Given the description of an element on the screen output the (x, y) to click on. 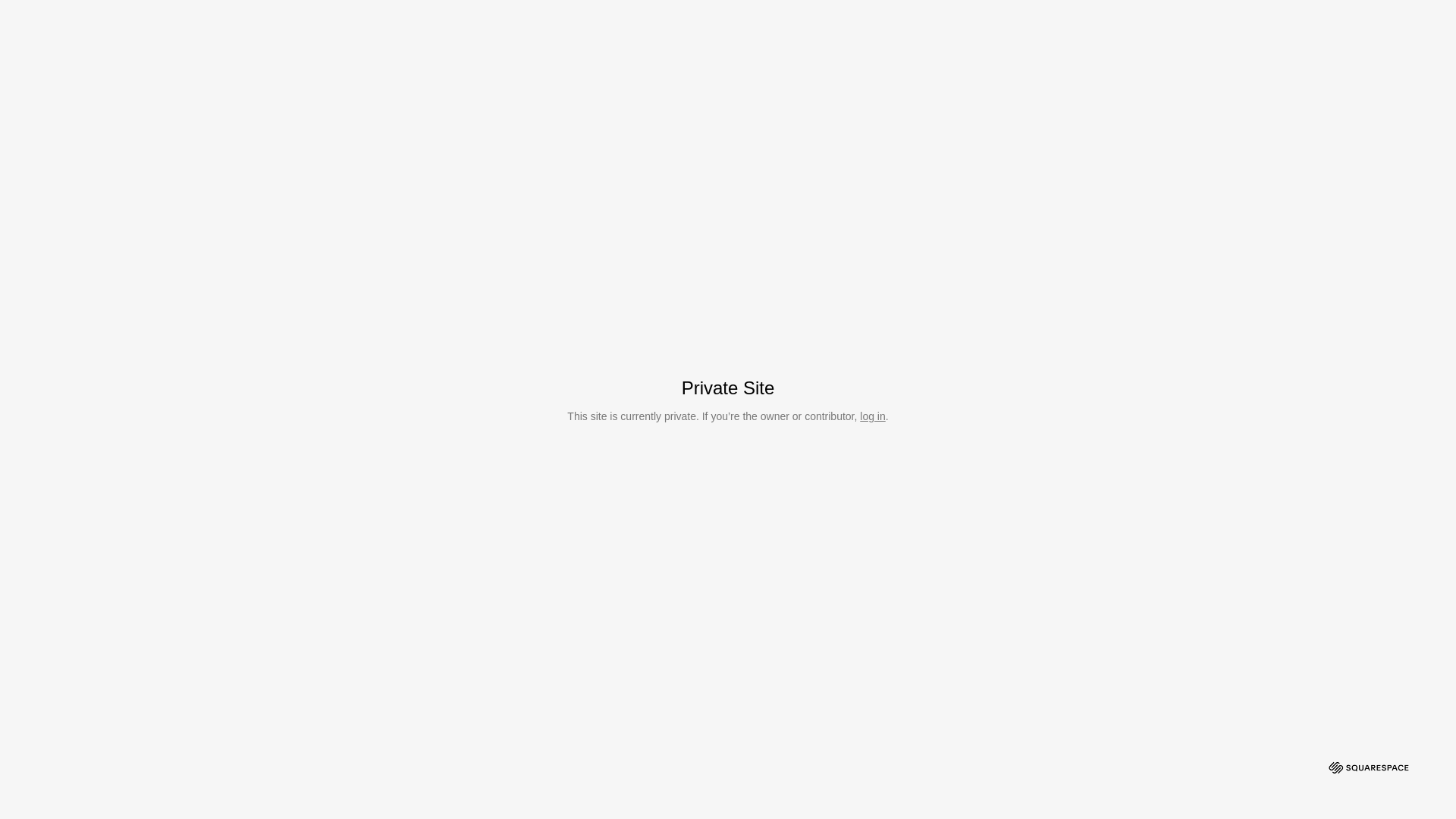
log in Element type: text (871, 416)
